Given the description of an element on the screen output the (x, y) to click on. 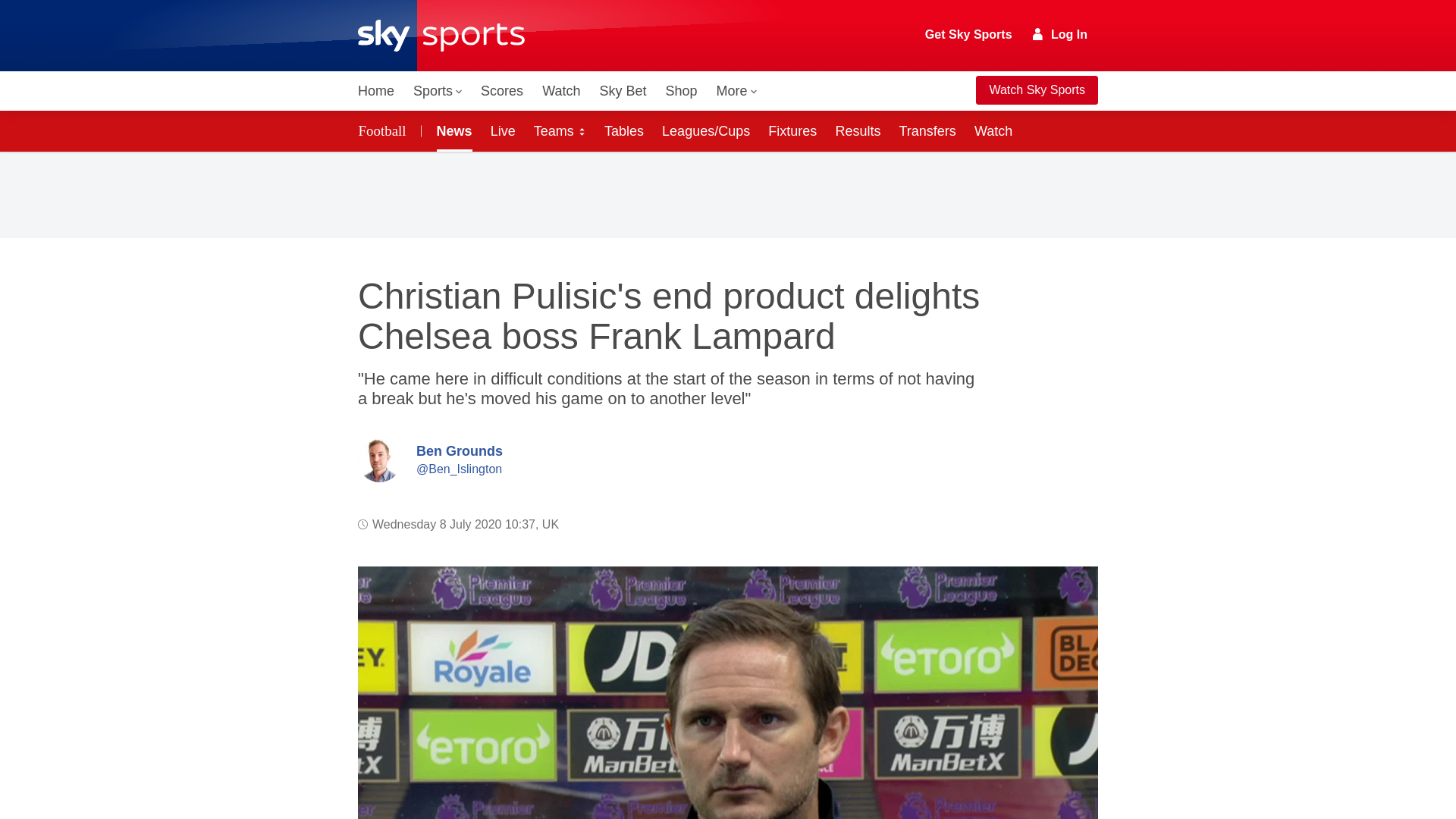
Get Sky Sports (968, 34)
Watch Sky Sports (1036, 90)
Log In (1060, 33)
Watch (561, 91)
Sky Bet (622, 91)
Sports (437, 91)
Scores (502, 91)
Shop (681, 91)
News (451, 130)
More (736, 91)
